Given the description of an element on the screen output the (x, y) to click on. 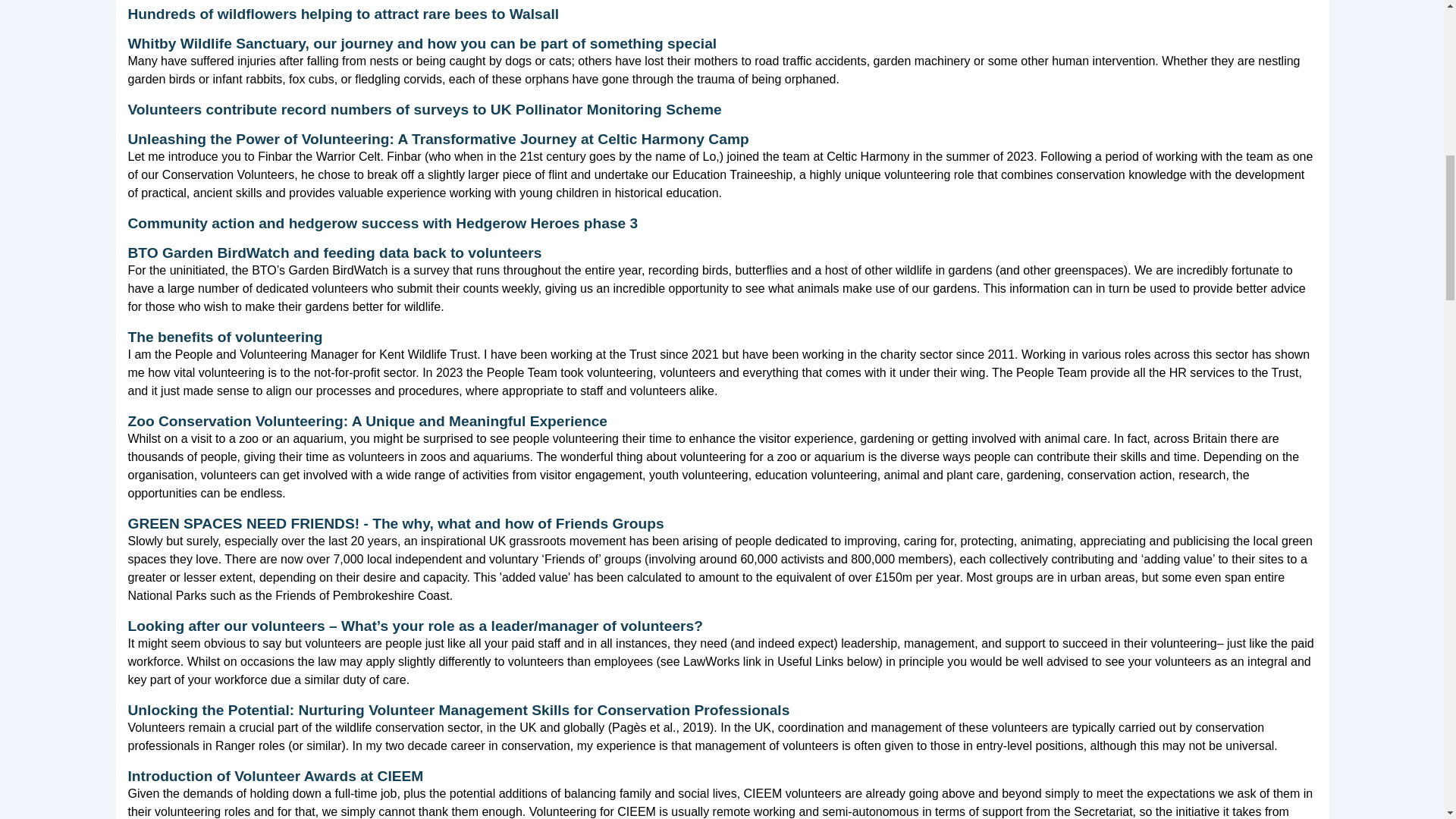
The benefits of volunteering (224, 336)
BTO Garden BirdWatch and feeding data back to volunteers (334, 252)
